Given the description of an element on the screen output the (x, y) to click on. 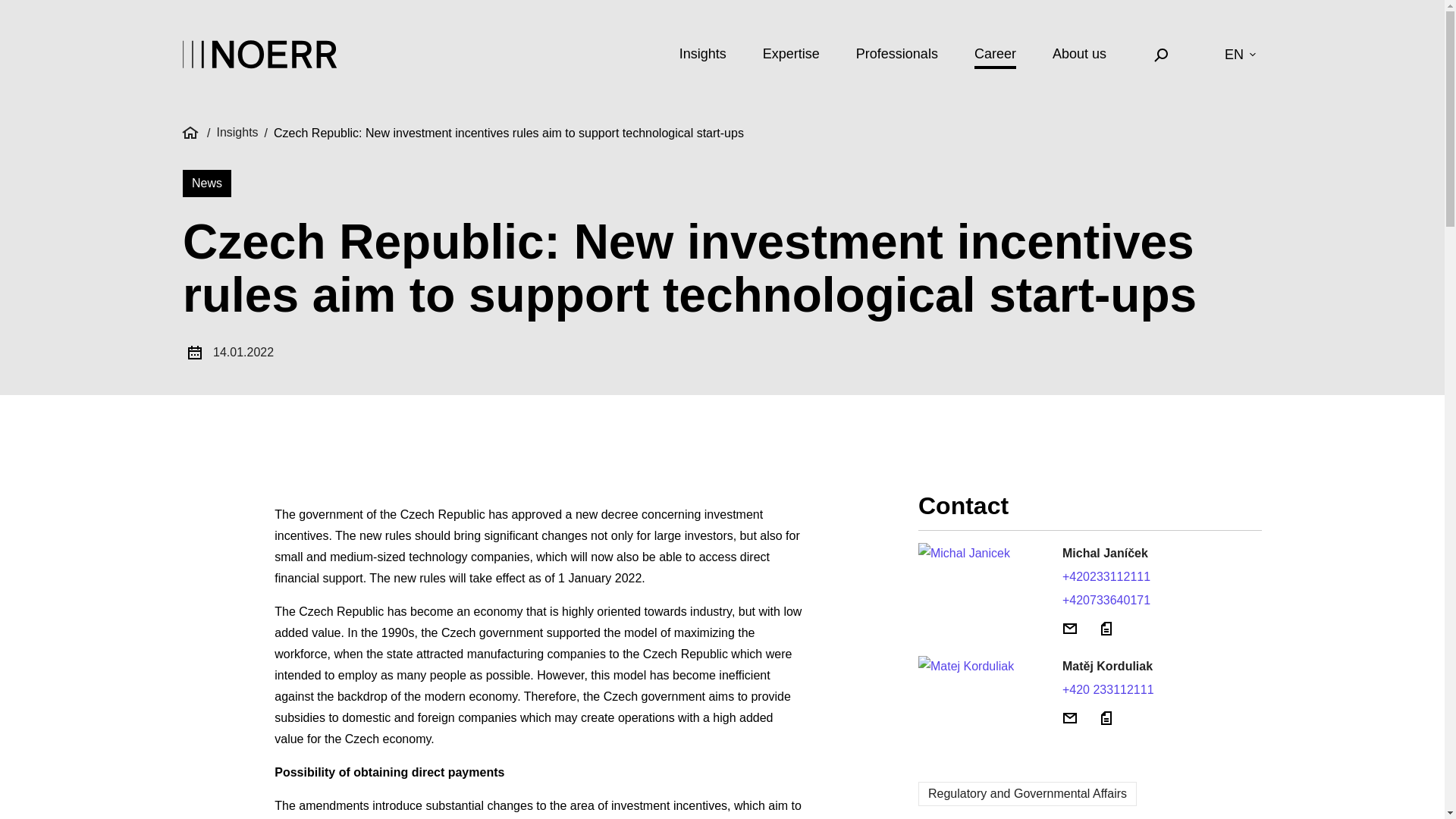
Career (995, 56)
Insights (236, 132)
Expertise (790, 56)
Regulatory and Governmental Affairs (1027, 793)
Professionals (896, 56)
Insights (702, 56)
About us (1079, 56)
